Given the description of an element on the screen output the (x, y) to click on. 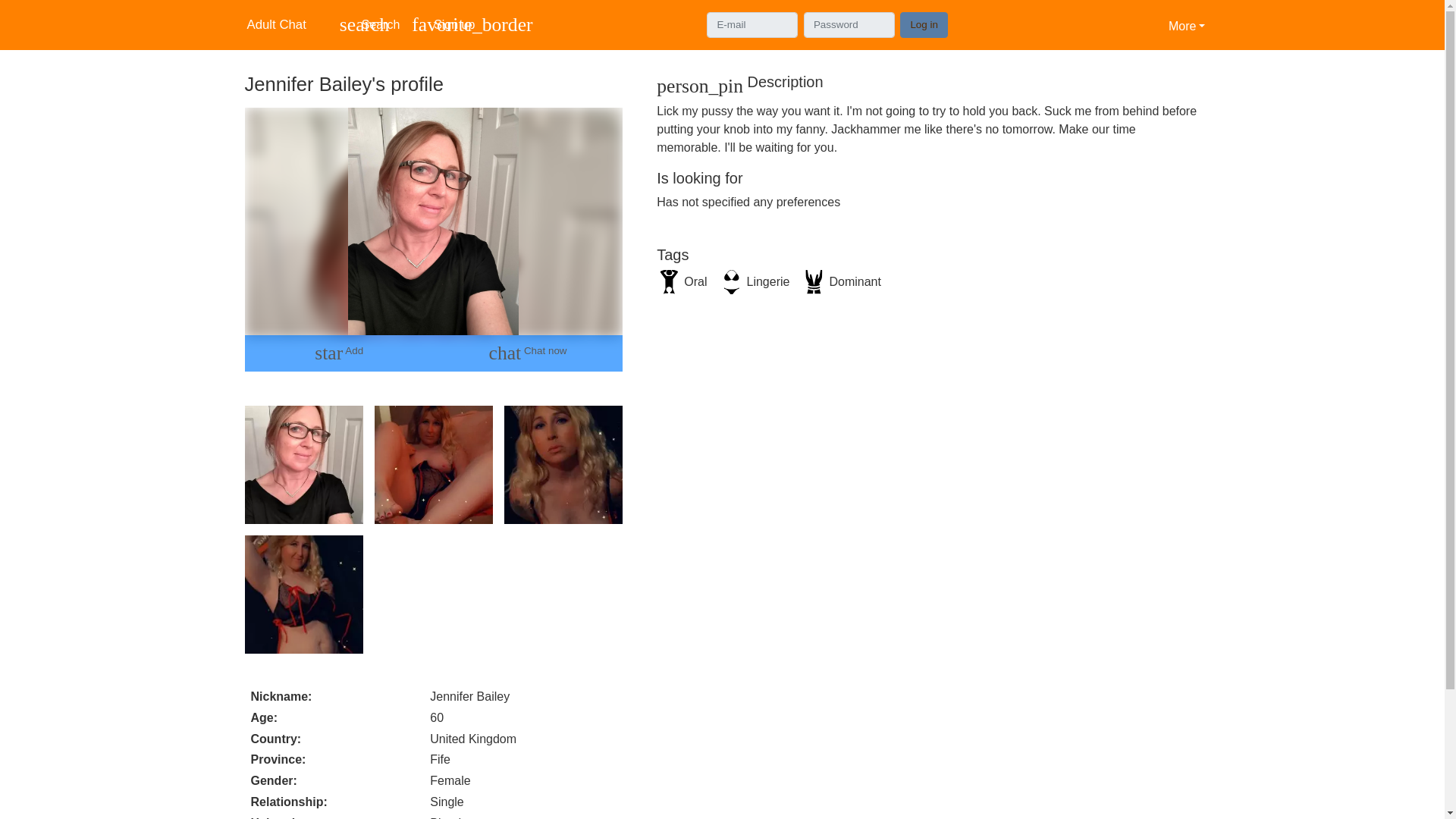
Adult Chat (282, 24)
Log in (923, 24)
chat Chat now (528, 352)
More (1186, 24)
star Add (338, 352)
